Given the description of an element on the screen output the (x, y) to click on. 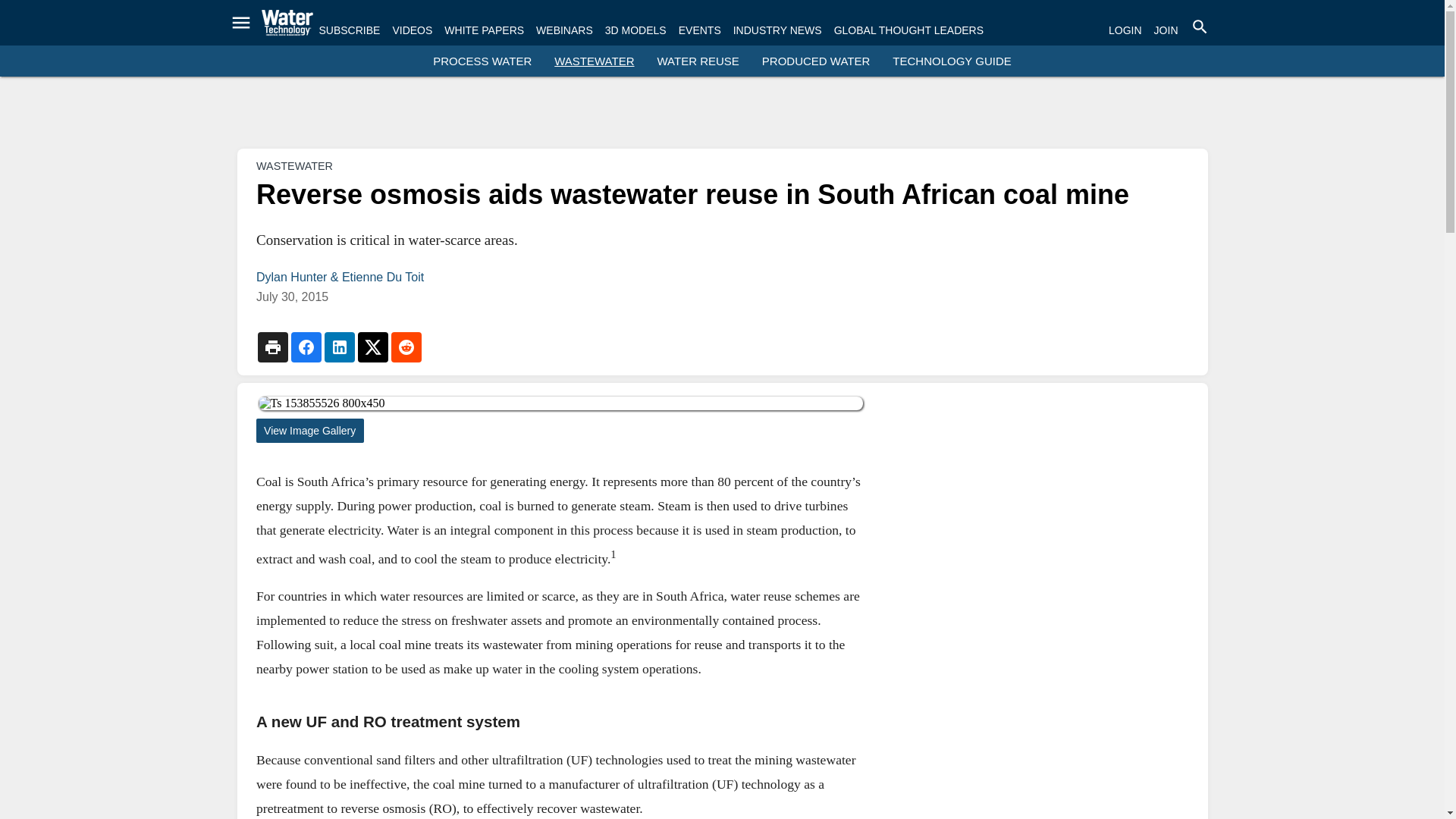
Ts 153855526 800x450 (559, 403)
3D MODELS (635, 30)
WATER REUSE (698, 60)
WASTEWATER (593, 60)
WASTEWATER (294, 165)
JOIN (1165, 30)
VIDEOS (411, 30)
SUBSCRIBE (349, 30)
INDUSTRY NEWS (777, 30)
EVENTS (699, 30)
